Given the description of an element on the screen output the (x, y) to click on. 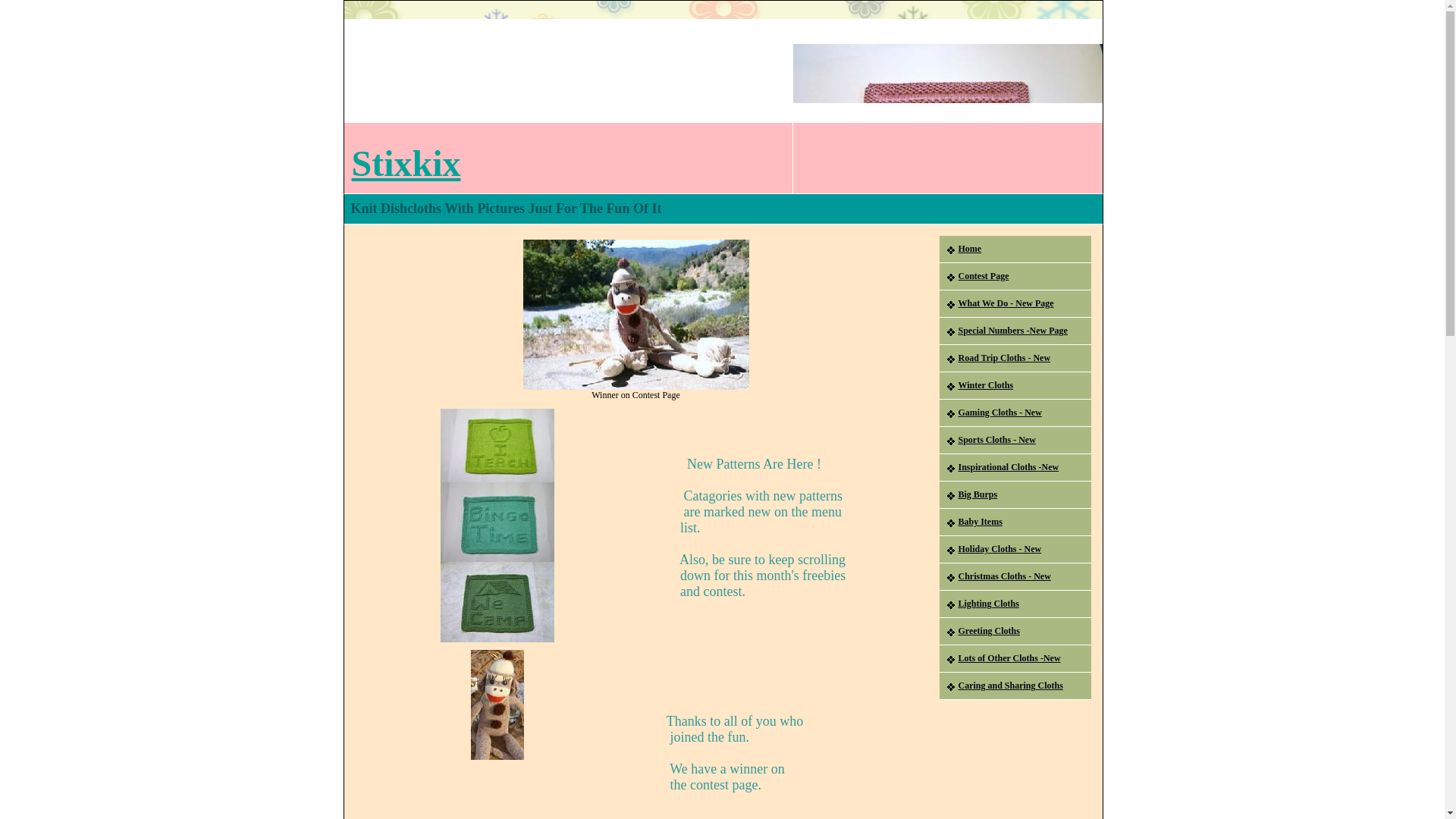
Home (1014, 248)
Baby Items (1014, 522)
Big Burps (1014, 494)
Lots of Other Cloths -New (1014, 658)
Greeting Cloths (1014, 631)
What We Do - New Page (1014, 303)
Holiday Cloths - New (1014, 549)
Caring and Sharing Cloths (1014, 686)
Contest Page (1014, 276)
Christmas Cloths - New (1014, 576)
